Given the description of an element on the screen output the (x, y) to click on. 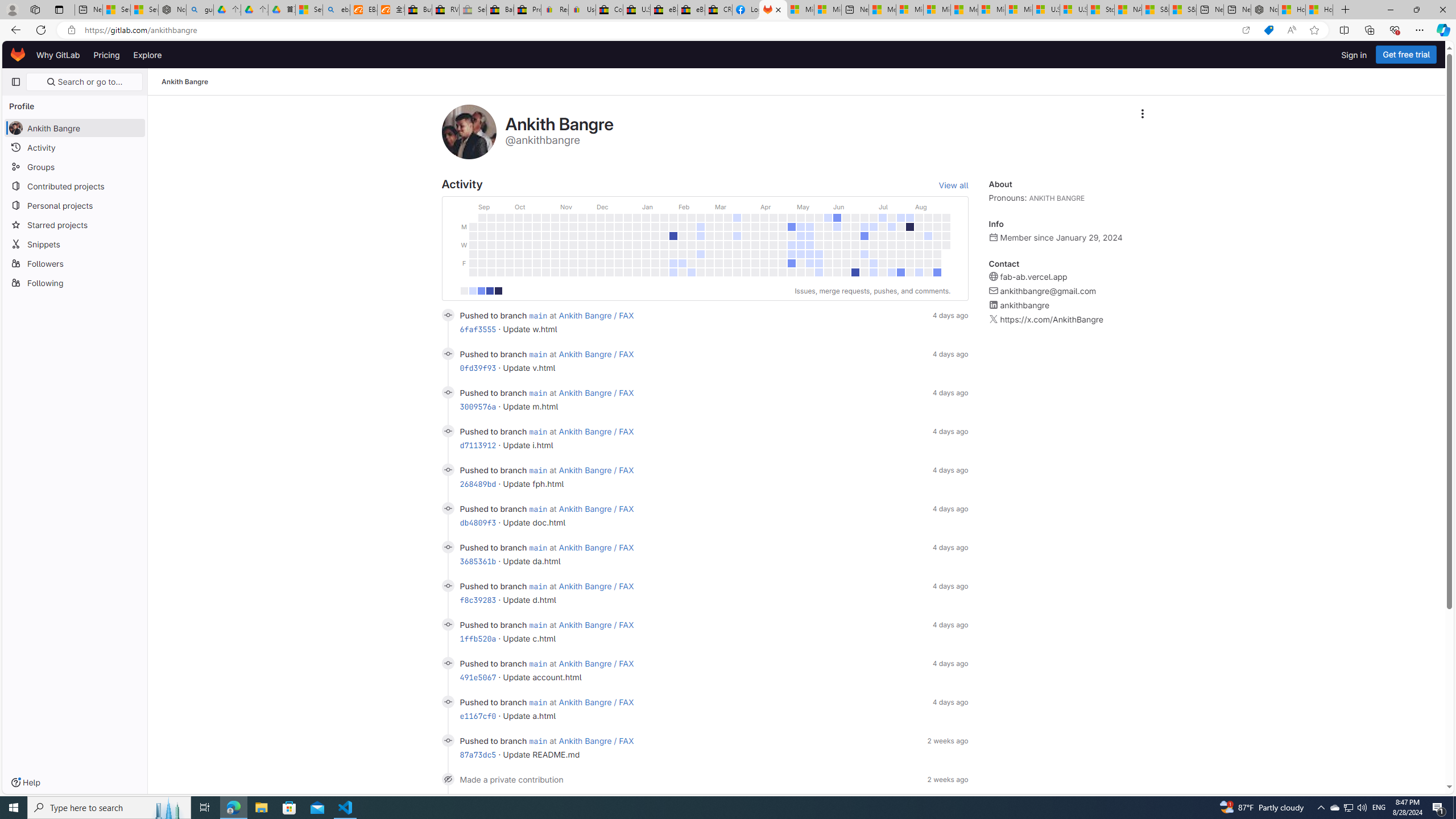
Buy Auto Parts & Accessories | eBay (418, 9)
